Given the description of an element on the screen output the (x, y) to click on. 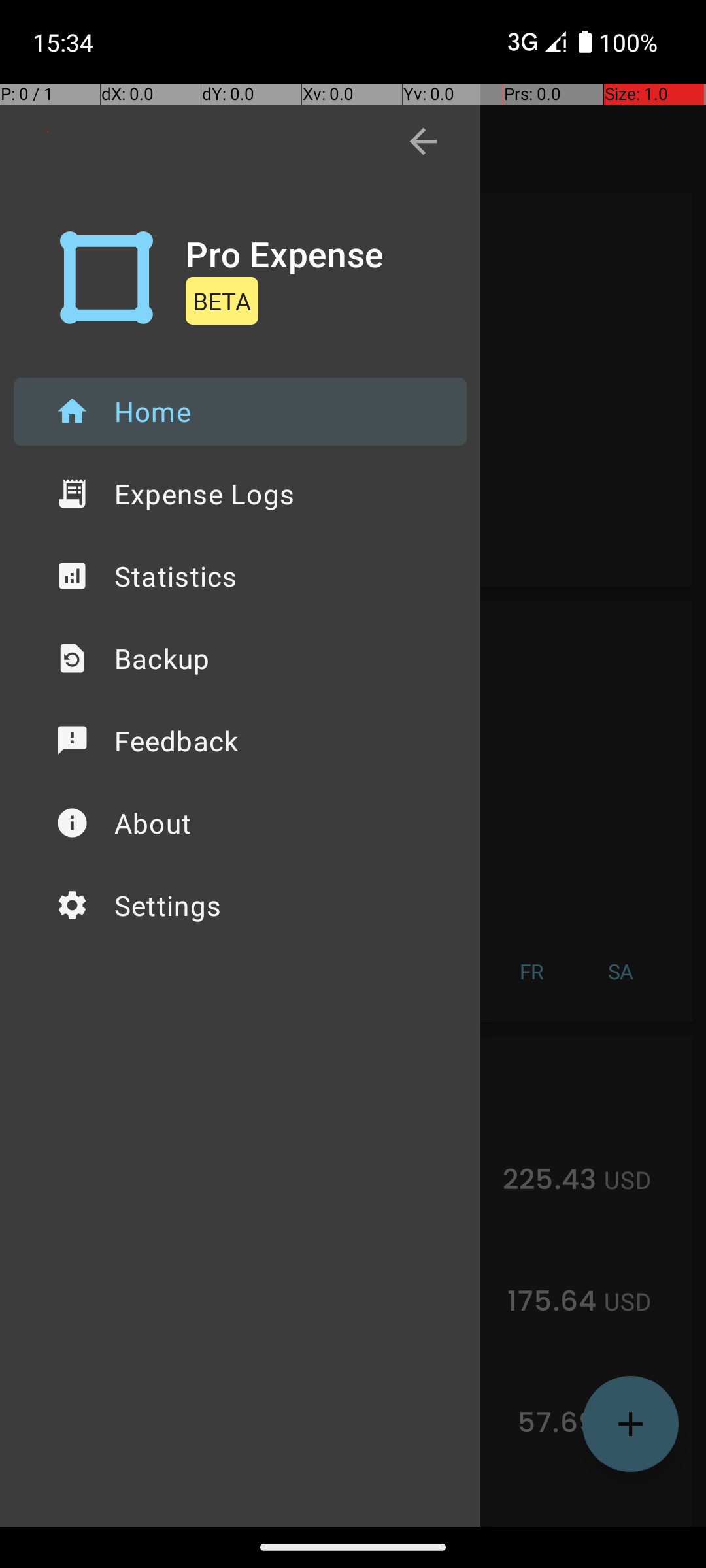
Pro Expense Element type: android.widget.TextView (284, 253)
BETA Element type: android.widget.TextView (221, 300)
Expense Logs Element type: android.widget.CheckedTextView (239, 493)
Statistics Element type: android.widget.CheckedTextView (239, 576)
Backup Element type: android.widget.CheckedTextView (239, 658)
Feedback Element type: android.widget.CheckedTextView (239, 740)
About Element type: android.widget.CheckedTextView (239, 823)
